Given the description of an element on the screen output the (x, y) to click on. 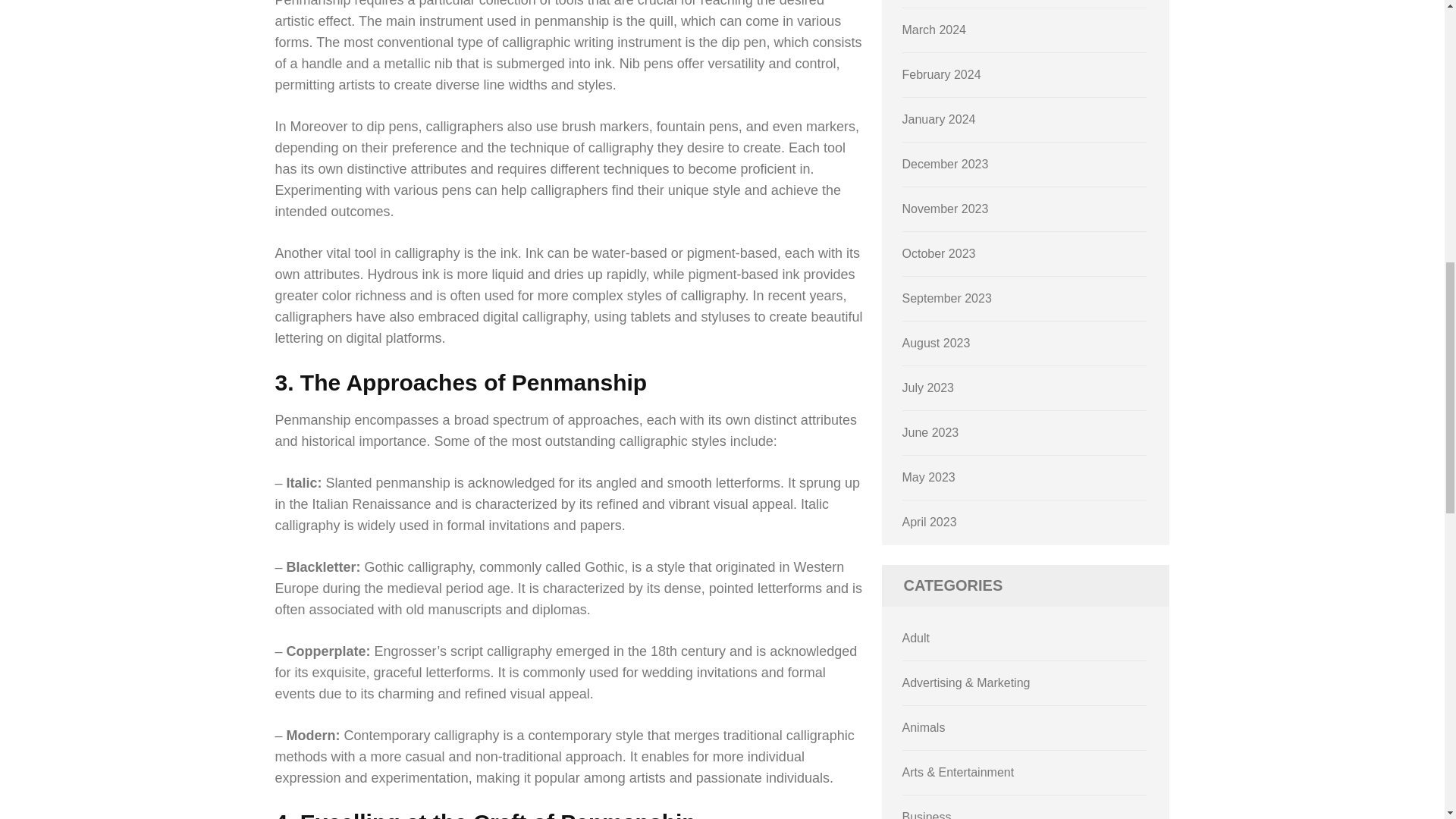
August 2023 (936, 342)
December 2023 (945, 164)
March 2024 (934, 29)
September 2023 (946, 297)
April 2023 (929, 521)
Adult (916, 637)
Animals (923, 727)
July 2023 (928, 387)
June 2023 (930, 431)
May 2023 (928, 477)
January 2024 (938, 119)
November 2023 (945, 208)
February 2024 (941, 74)
October 2023 (938, 253)
